Given the description of an element on the screen output the (x, y) to click on. 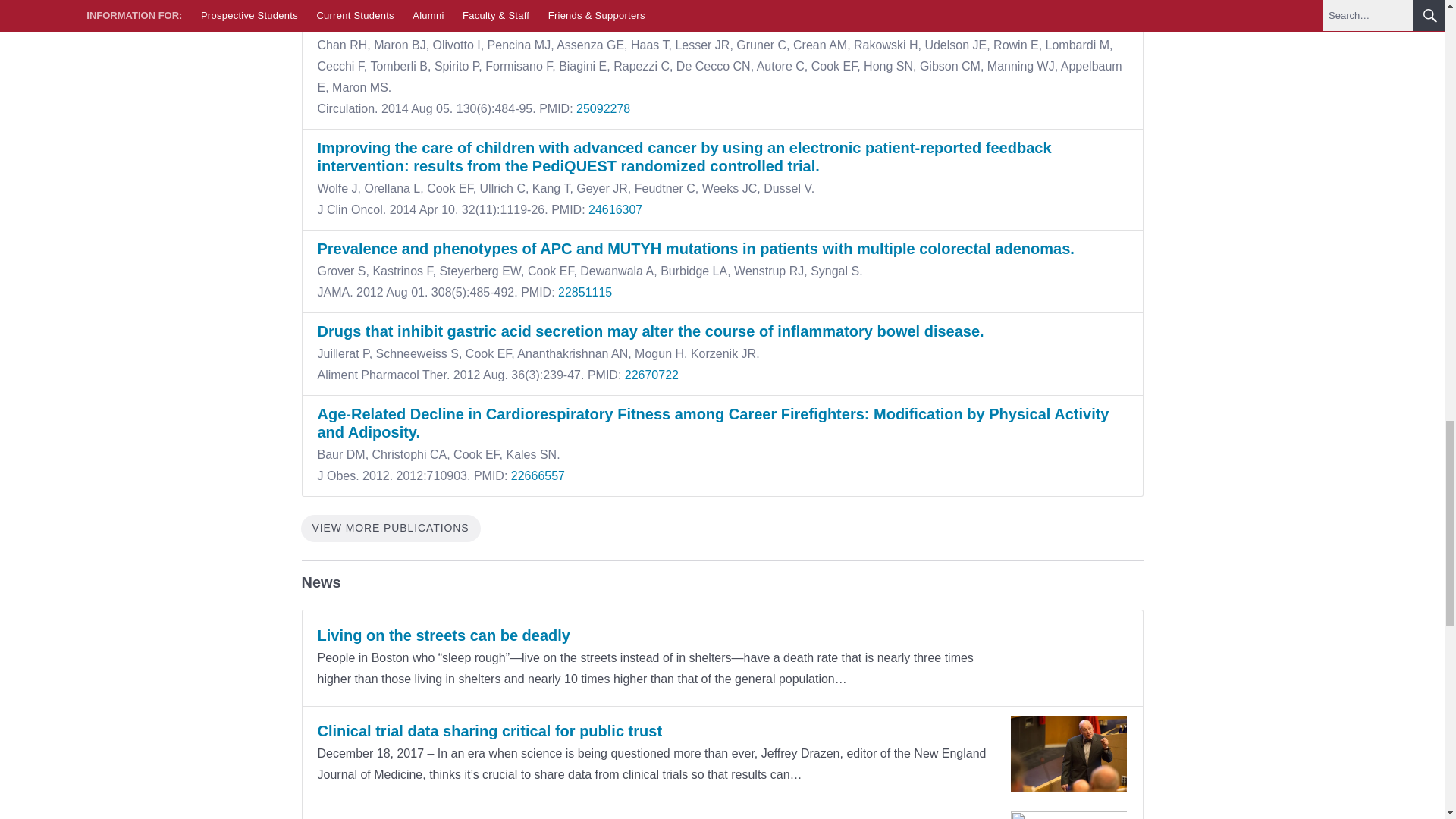
Permalink to Living on the streets can be deadly (443, 635)
